Given the description of an element on the screen output the (x, y) to click on. 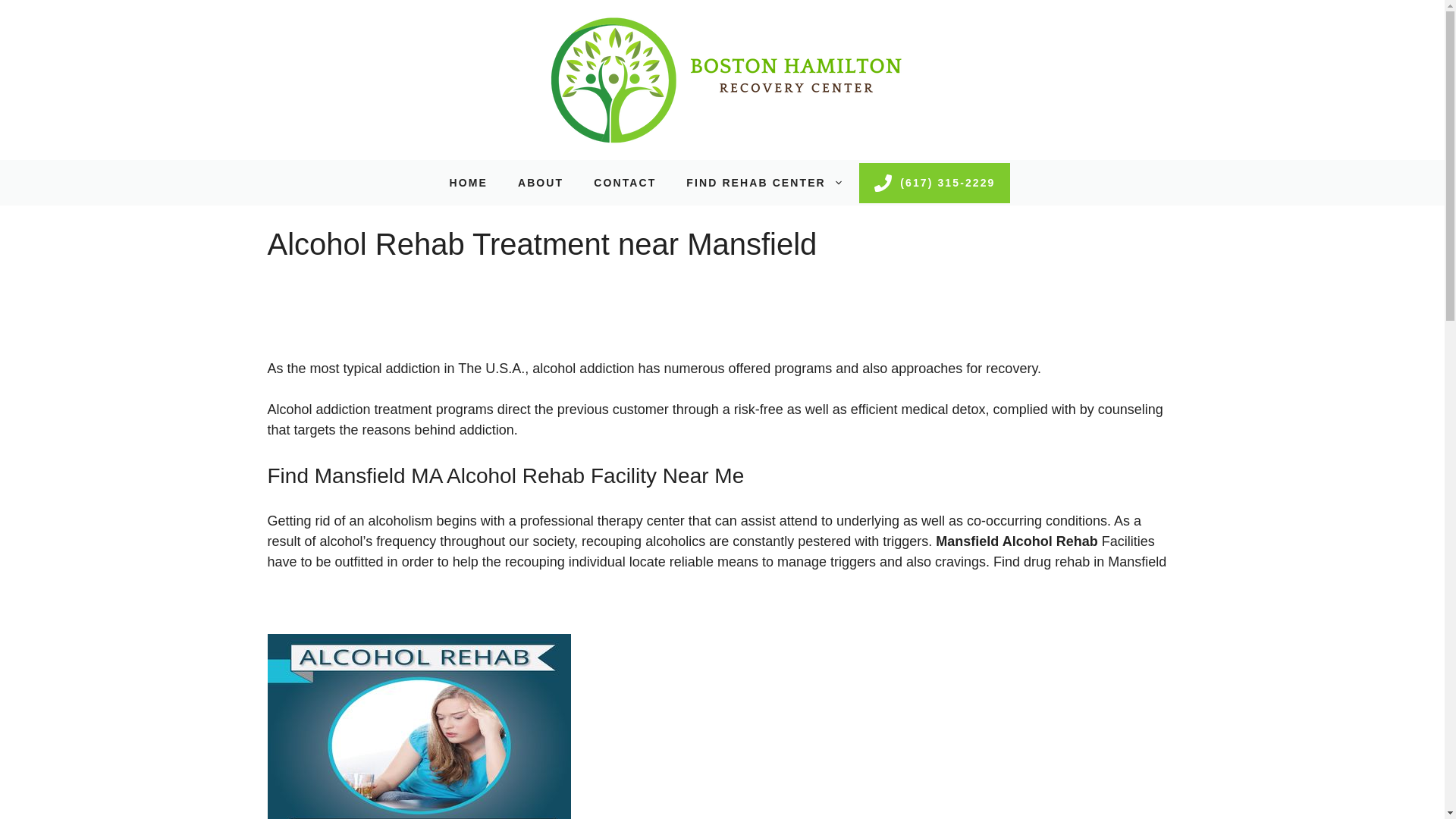
CONTACT (624, 182)
drug rehab in Mansfield (1094, 561)
FIND REHAB CENTER (765, 182)
ABOUT (540, 182)
HOME (467, 182)
